Given the description of an element on the screen output the (x, y) to click on. 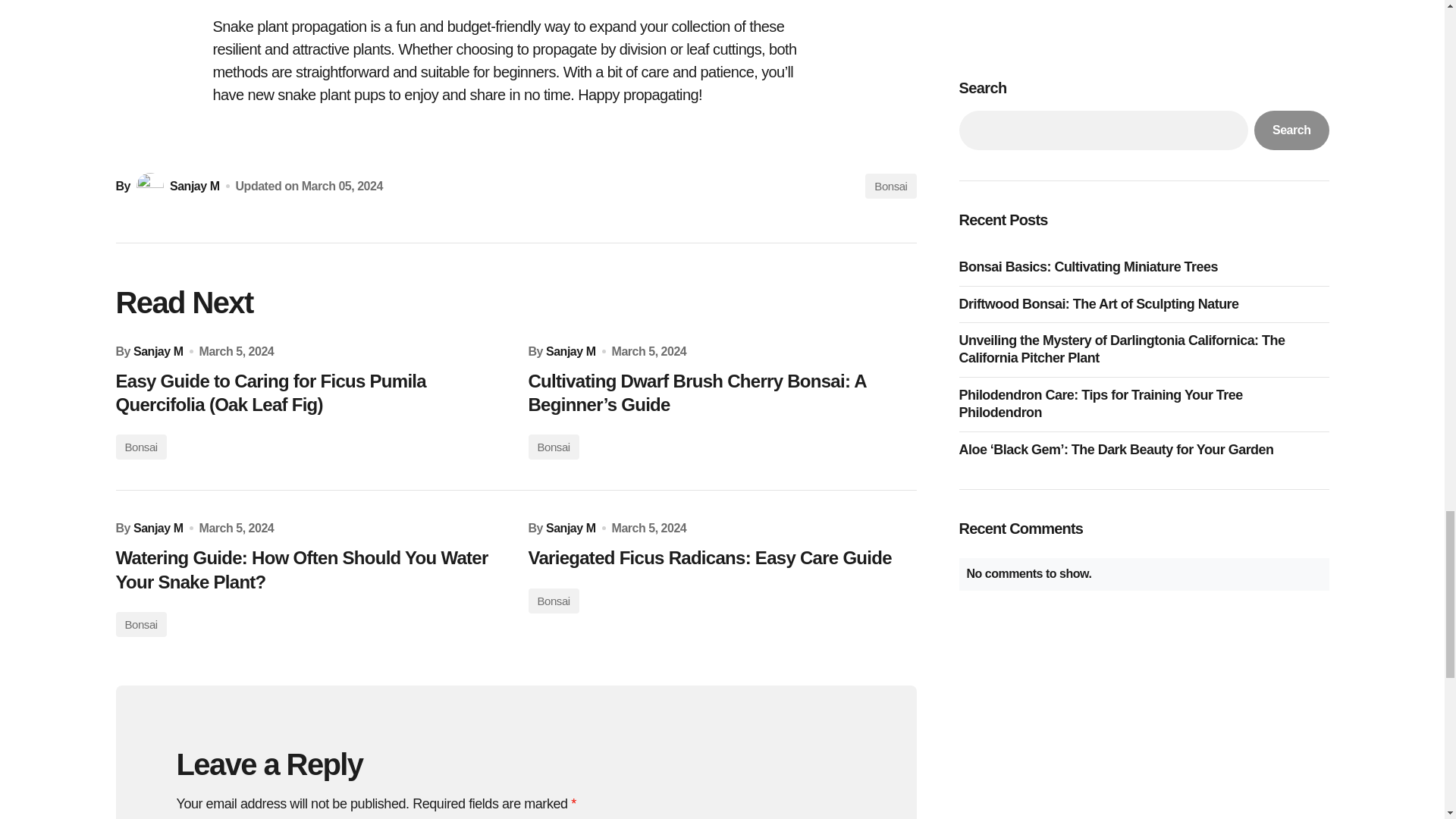
Bonsai (552, 600)
Sanjay M (158, 350)
Sanjay M (570, 350)
Sanjay M (158, 527)
Bonsai (140, 446)
Bonsai (140, 624)
Bonsai (889, 186)
Watering Guide: How Often Should You Water Your Snake Plant? (309, 569)
Sanjay M (570, 527)
Sanjay M (176, 185)
Bonsai (552, 446)
Variegated Ficus Radicans: Easy Care Guide (721, 557)
